Given the description of an element on the screen output the (x, y) to click on. 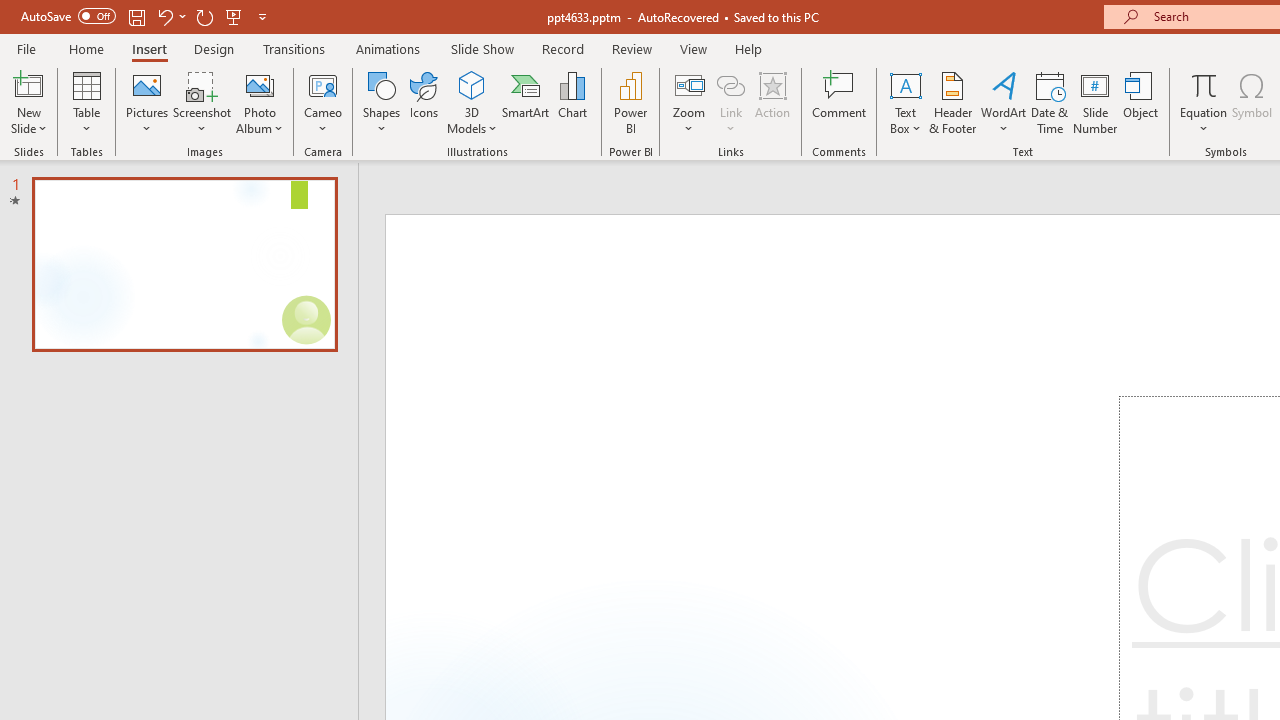
Symbol... (1252, 102)
Photo Album... (259, 102)
Header & Footer... (952, 102)
